Given the description of an element on the screen output the (x, y) to click on. 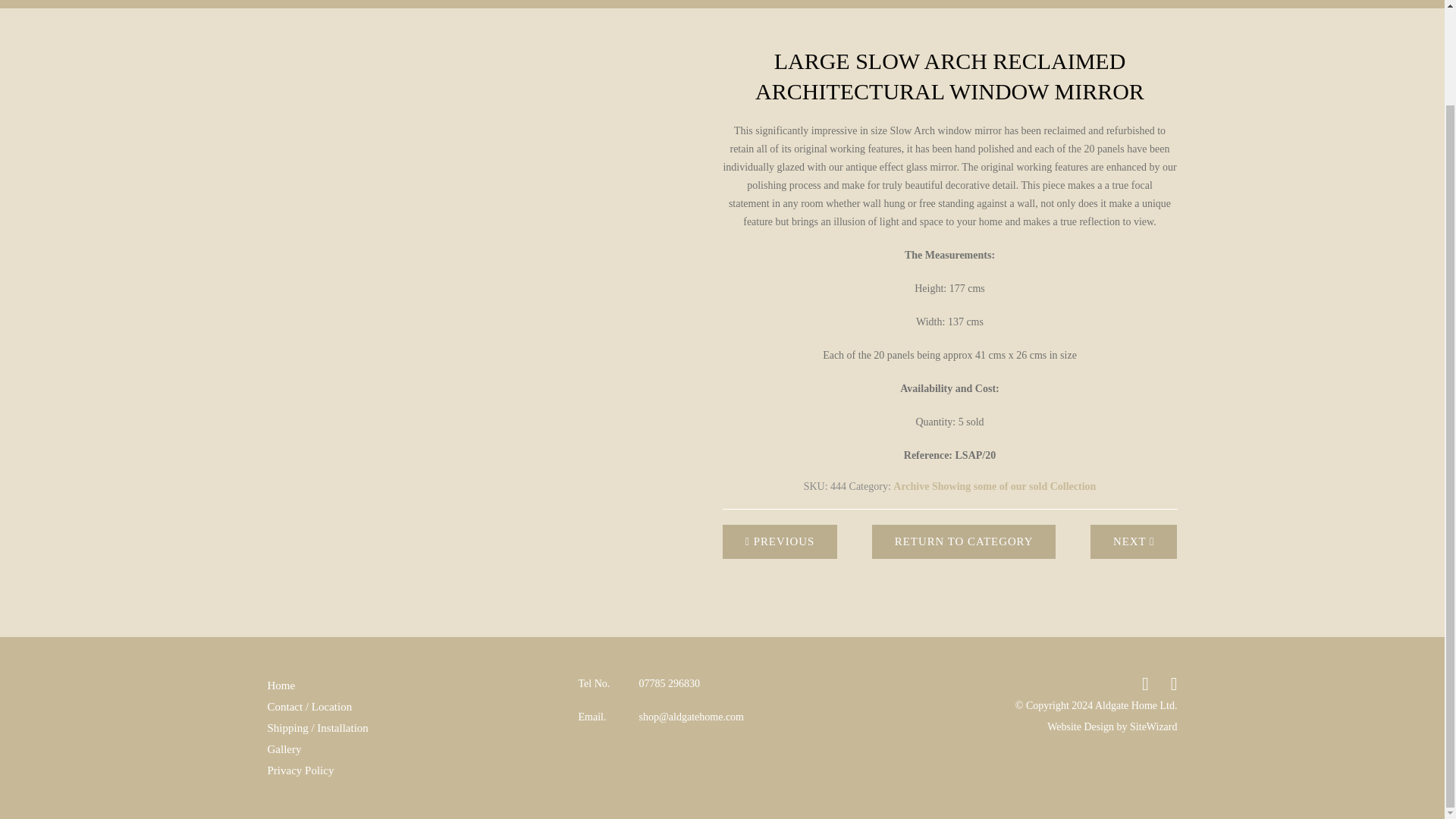
Gallery (283, 749)
RETURN TO CATEGORY (964, 541)
PREVIOUS (779, 541)
Home (280, 685)
07785 296830 (669, 683)
SiteWizard (1152, 726)
Archive Showing some of our sold Collection (994, 486)
Privacy Policy (299, 770)
NEXT (1133, 541)
